Given the description of an element on the screen output the (x, y) to click on. 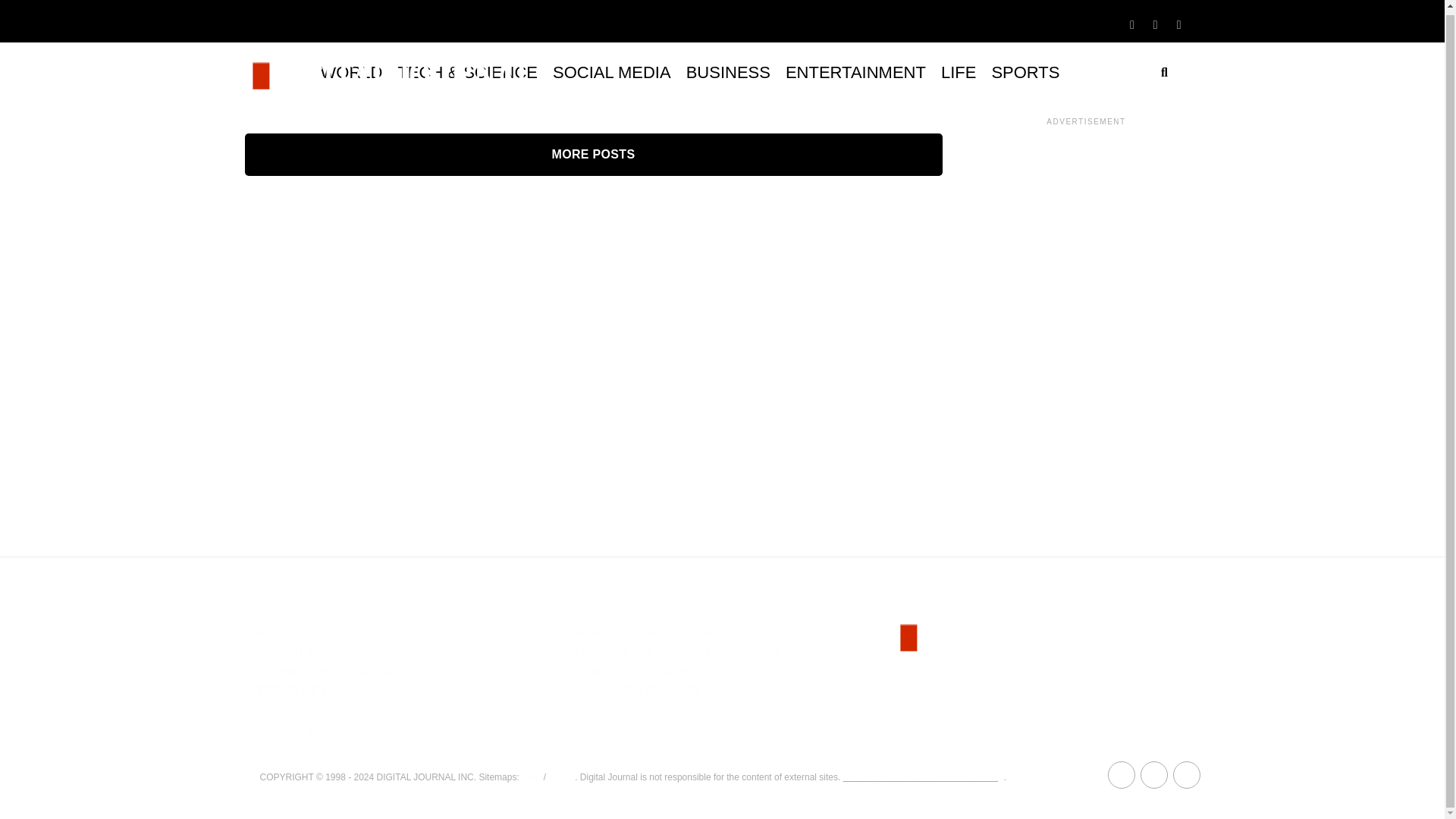
SPORTS (1025, 72)
SOCIAL MEDIA (611, 72)
NEWS PARTNER: AFP (638, 671)
SPONSORED CONTENT (326, 671)
Read more about our external linking (923, 776)
BUSINESS (727, 72)
ABOUT US (288, 631)
WORLD (351, 72)
ALL PRESS RELEASES (641, 690)
CONTACT US (295, 730)
PRIVACY POLICY (307, 710)
XML (530, 776)
TERMS OF USE (301, 690)
INSIGHT FORUM (304, 651)
FEATURED: ACCESSWIRE (651, 631)
